Given the description of an element on the screen output the (x, y) to click on. 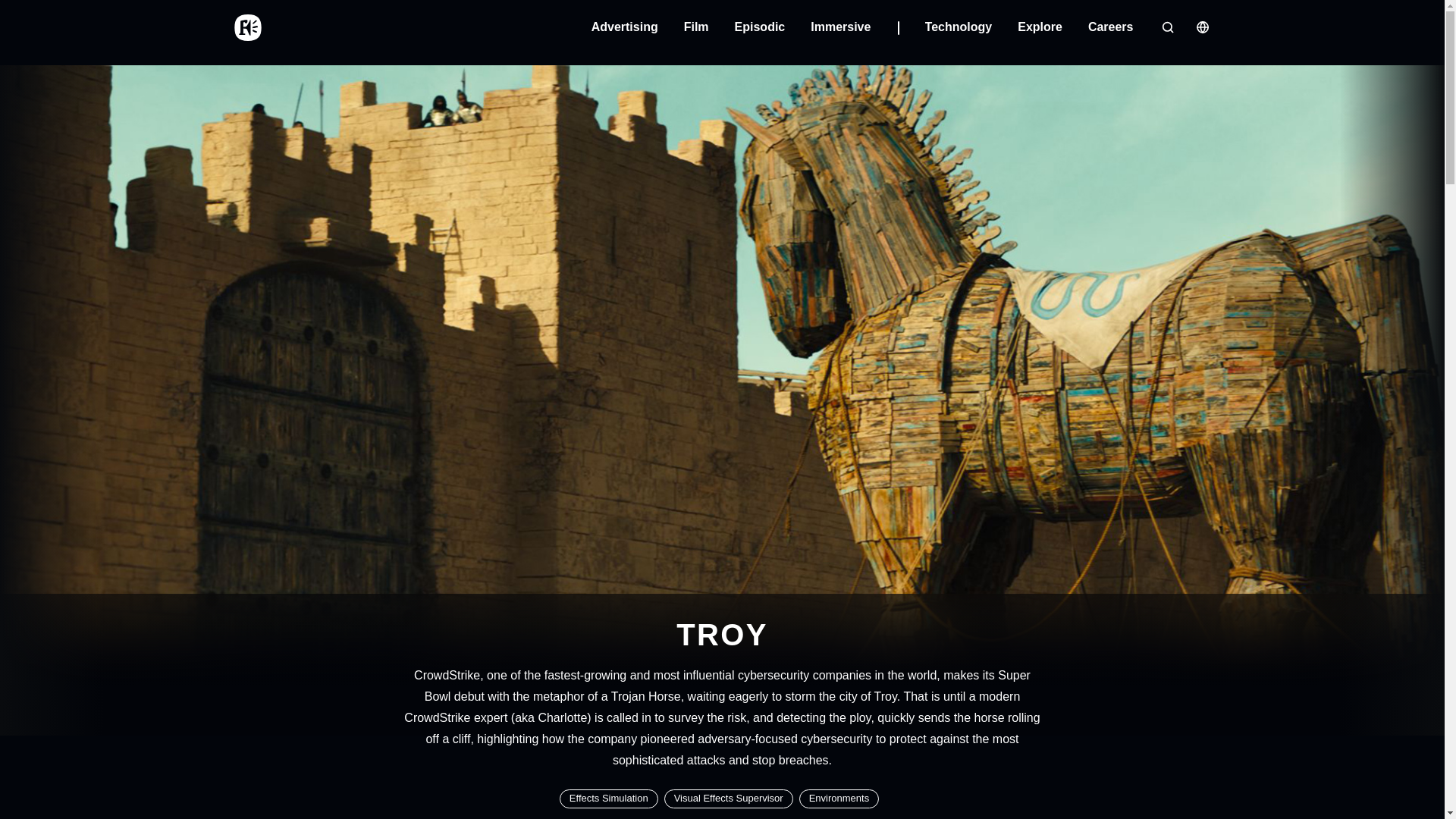
Home (246, 27)
Advertising (624, 26)
Immersive (854, 26)
Technology (958, 26)
Search (1166, 27)
Languages (1201, 27)
Episodic (760, 26)
Film (696, 26)
